Given the description of an element on the screen output the (x, y) to click on. 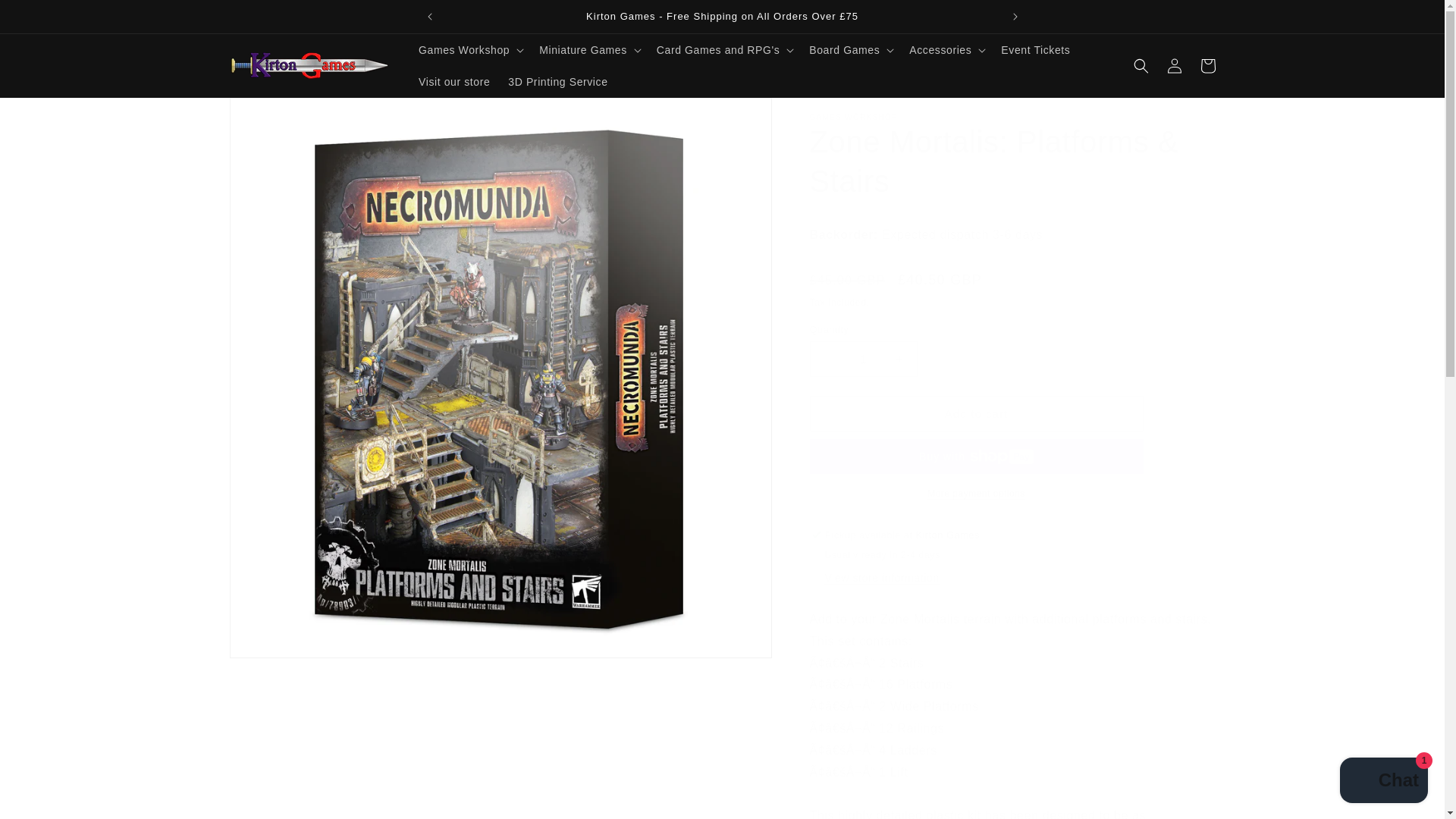
1 (863, 358)
Skip to content (45, 17)
Shopify online store chat (1383, 781)
